Given the description of an element on the screen output the (x, y) to click on. 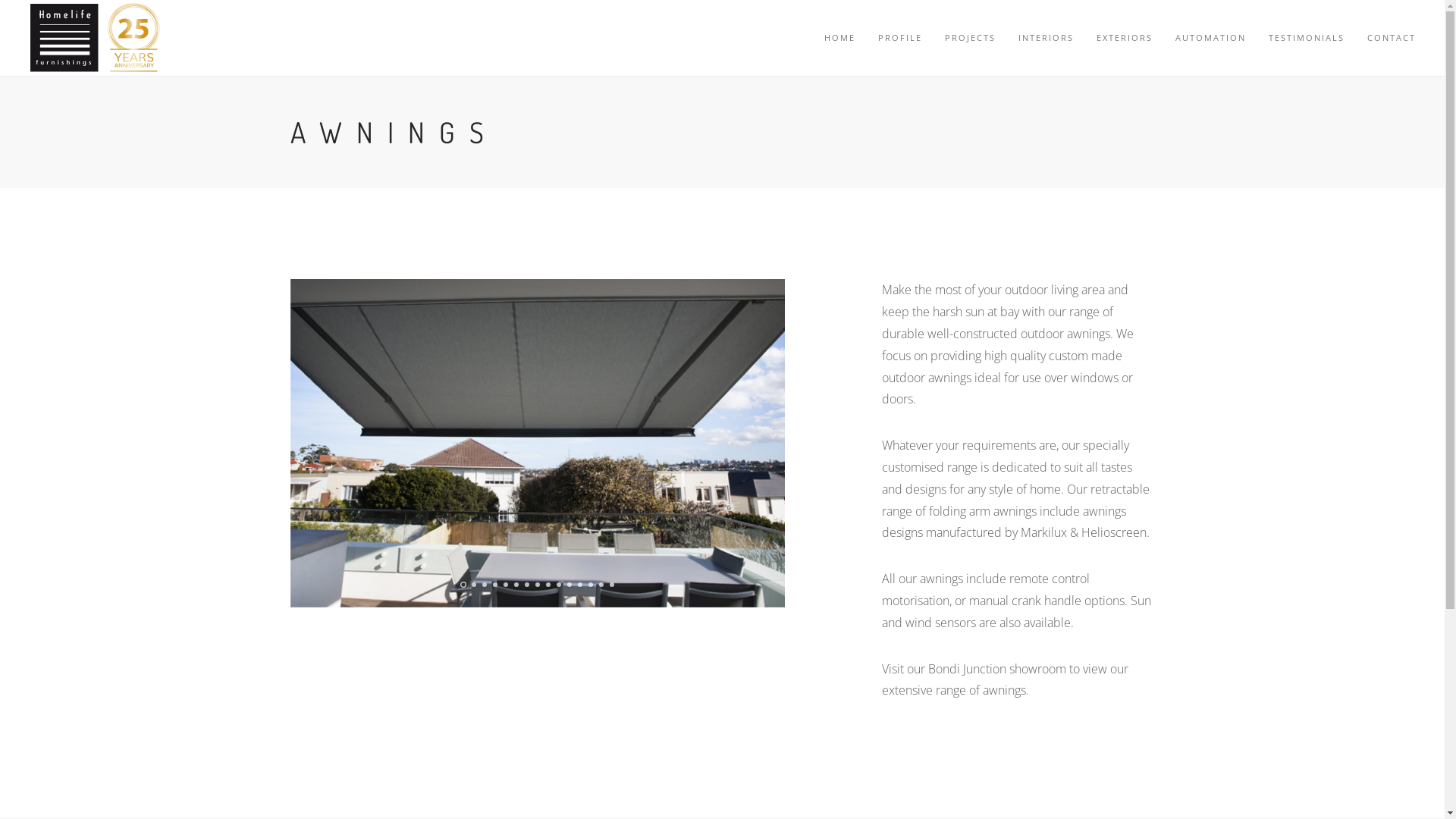
CONTACT Element type: text (1391, 37)
HOME Element type: text (839, 37)
PROFILE Element type: text (900, 37)
TESTIMONIALS Element type: text (1306, 37)
PROJECTS Element type: text (969, 37)
EXTERIORS Element type: text (1124, 37)
AUTOMATION Element type: text (1210, 37)
INTERIORS Element type: text (1045, 37)
